Given the description of an element on the screen output the (x, y) to click on. 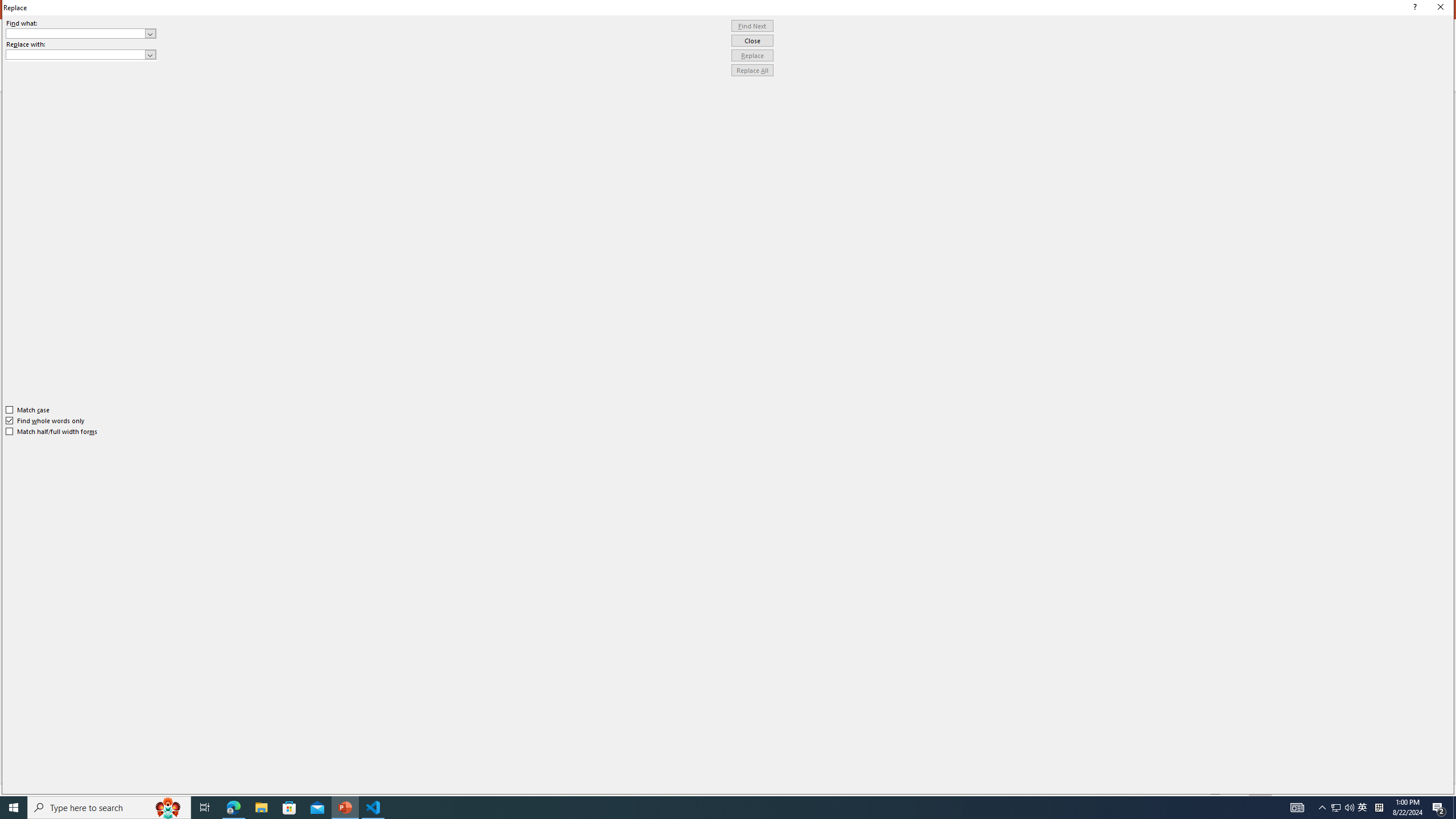
Context help (1413, 8)
Replace with (80, 54)
Replace (752, 55)
Find whole words only (45, 420)
Replace All (752, 69)
Match half/full width forms (52, 431)
Find what (75, 33)
Find what (80, 33)
Match case (27, 409)
Replace with (75, 53)
Find Next (752, 25)
